Given the description of an element on the screen output the (x, y) to click on. 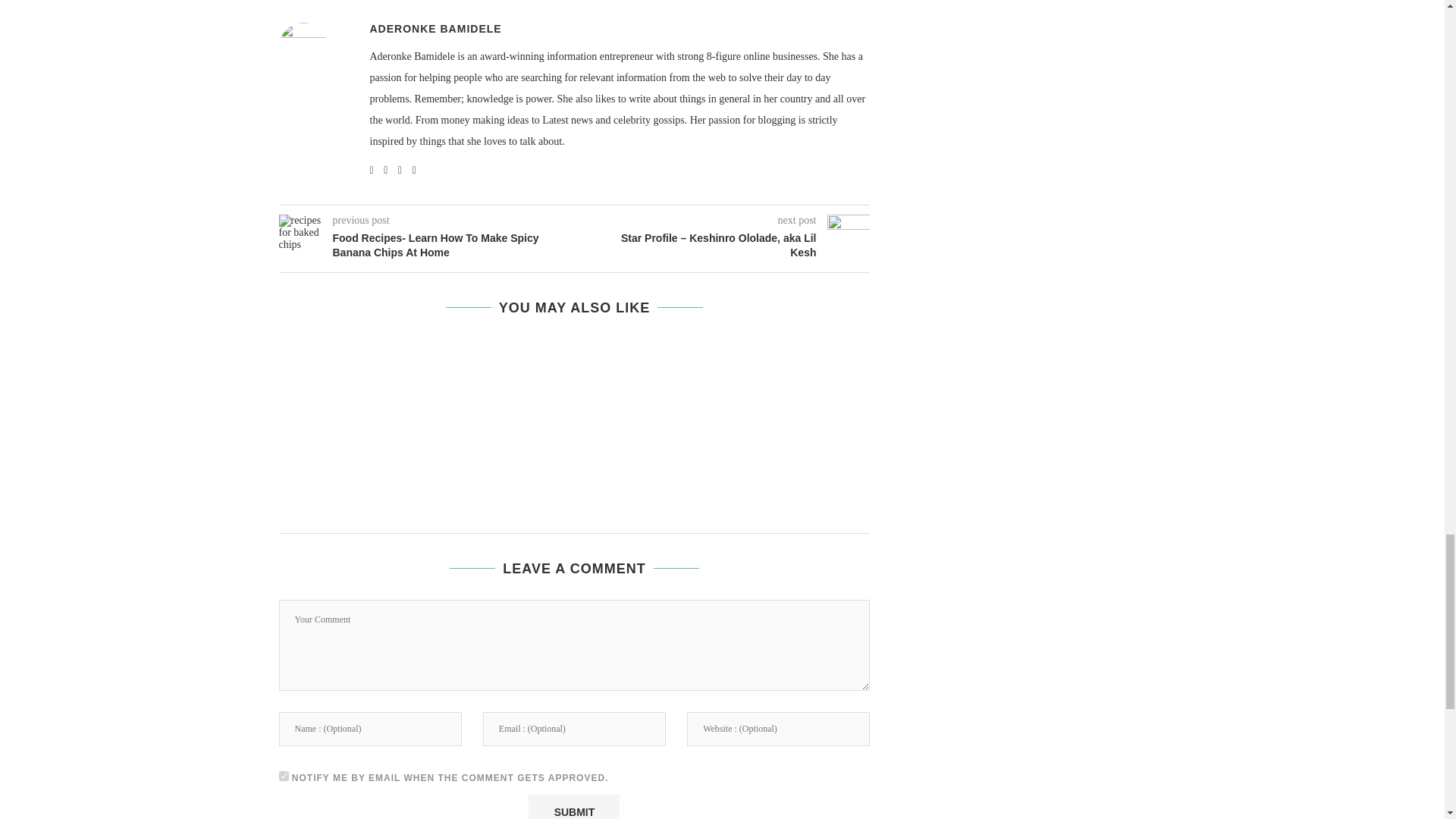
Submit (574, 806)
1 (283, 776)
Posts by Aderonke Bamidele (435, 28)
